Given the description of an element on the screen output the (x, y) to click on. 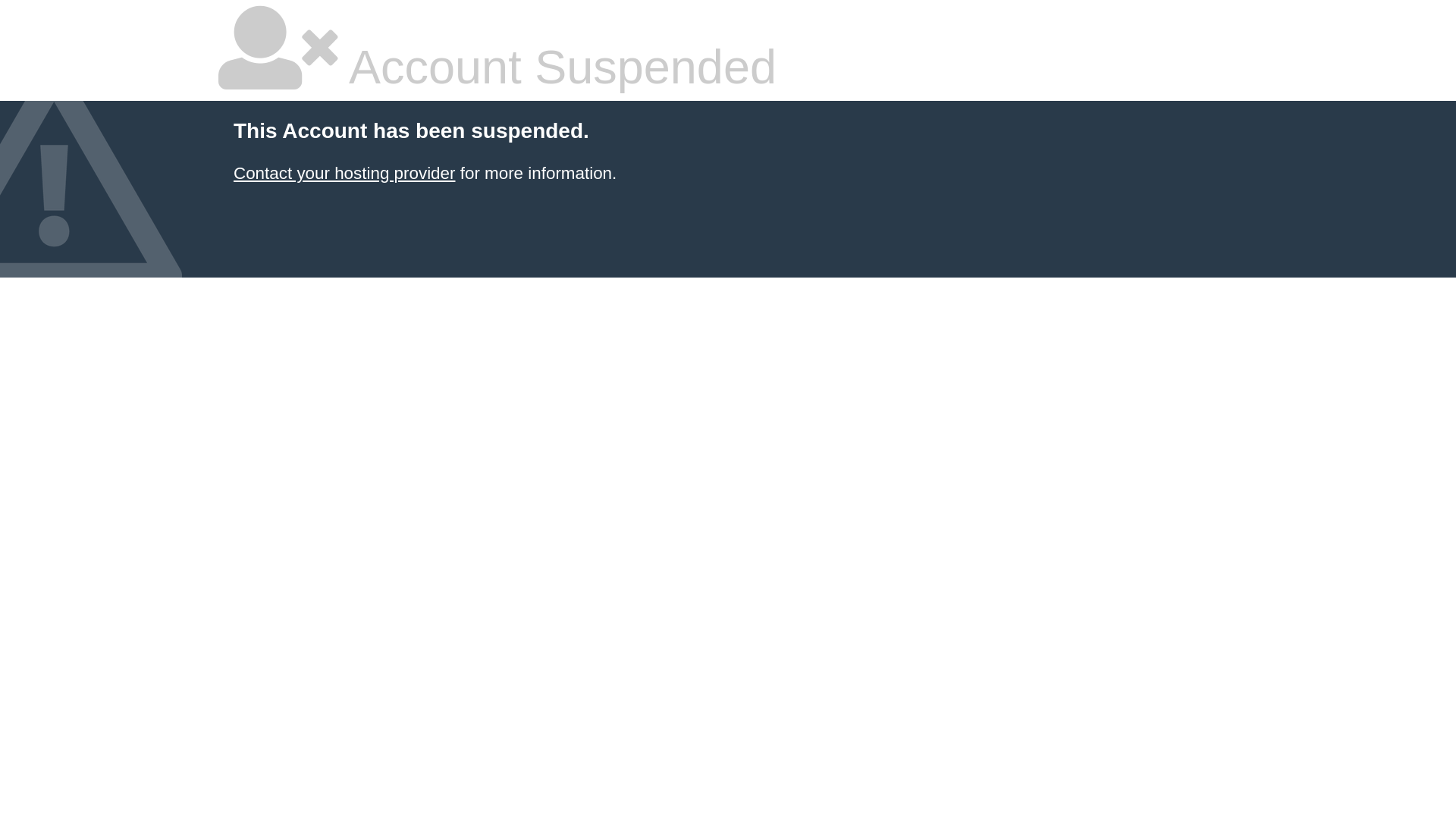
Contact your hosting provider Element type: text (344, 172)
